Given the description of an element on the screen output the (x, y) to click on. 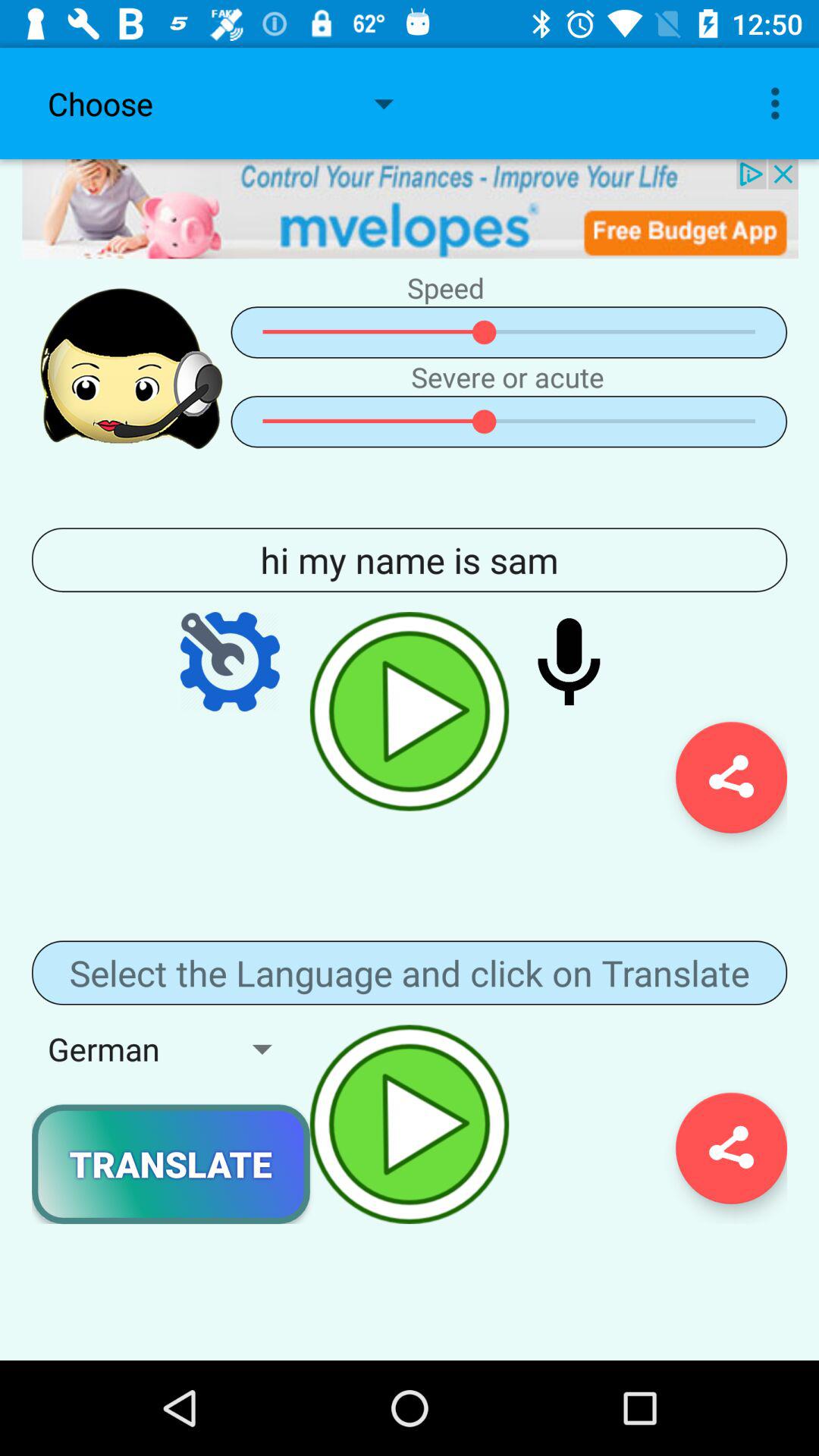
share button (731, 1148)
